Given the description of an element on the screen output the (x, y) to click on. 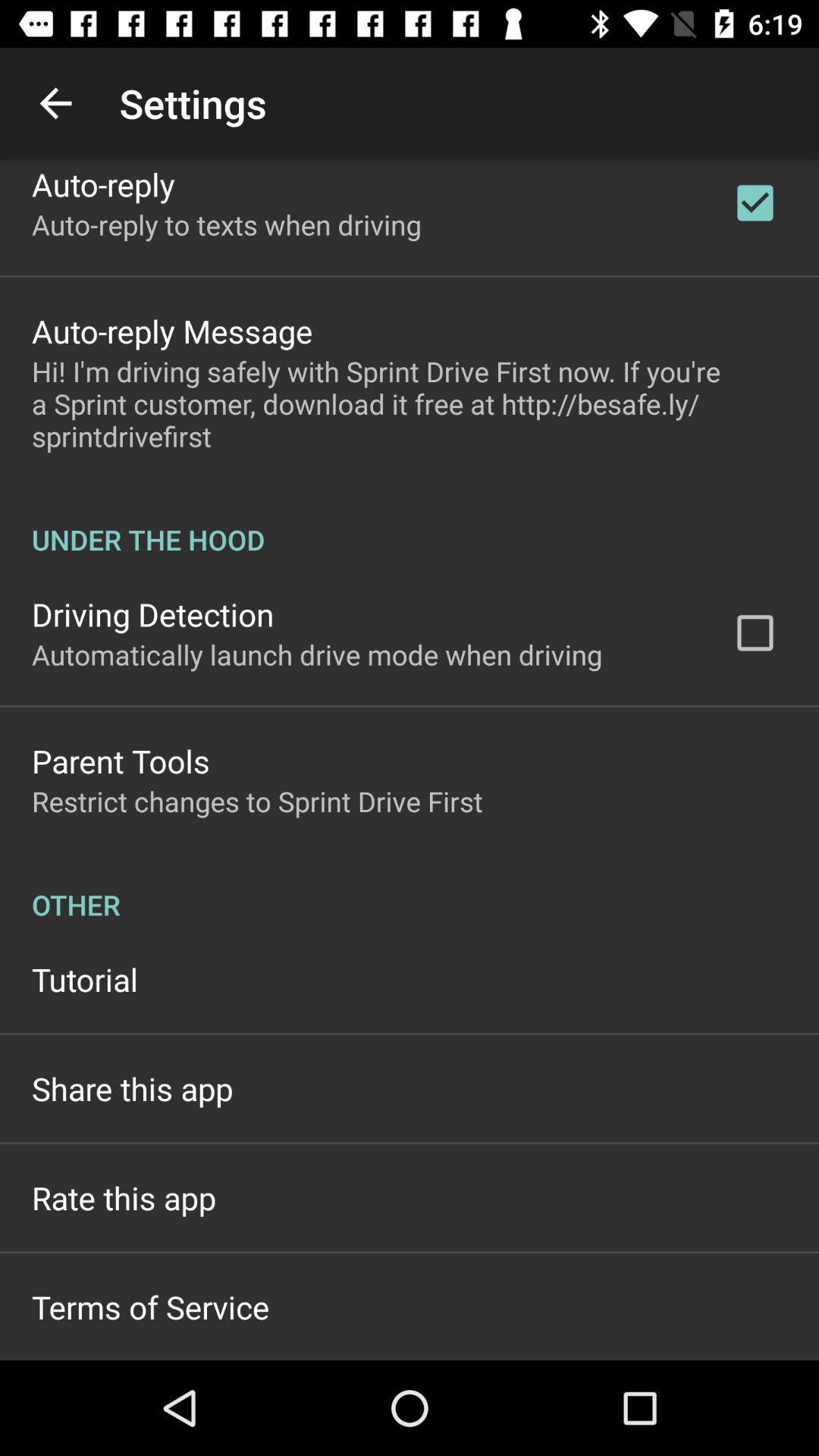
choose the icon to the left of settings item (55, 103)
